Given the description of an element on the screen output the (x, y) to click on. 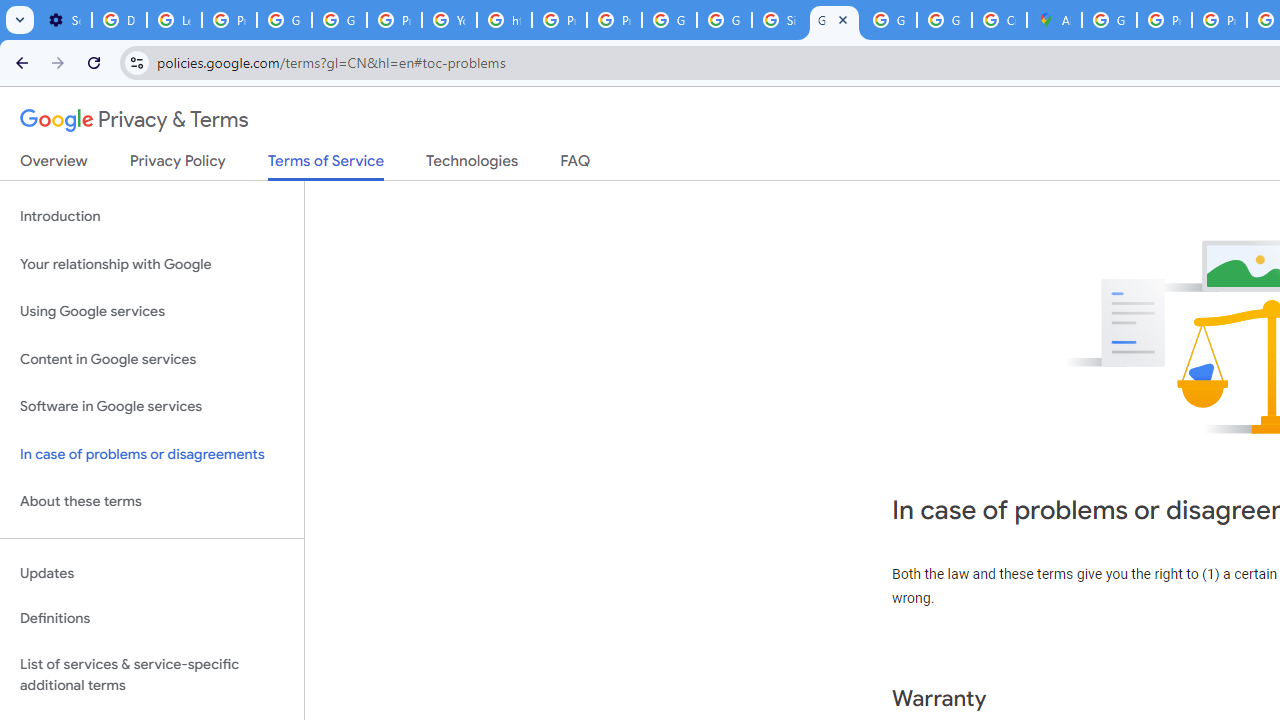
Software in Google services (152, 407)
Create your Google Account (998, 20)
Learn how to find your photos - Google Photos Help (174, 20)
Settings - On startup (64, 20)
Google Account Help (284, 20)
FAQ (575, 165)
Google Account Help (339, 20)
System (10, 11)
Privacy Help Center - Policies Help (1218, 20)
Using Google services (152, 312)
Sign in - Google Accounts (779, 20)
Your relationship with Google (152, 263)
Forward (57, 62)
